Given the description of an element on the screen output the (x, y) to click on. 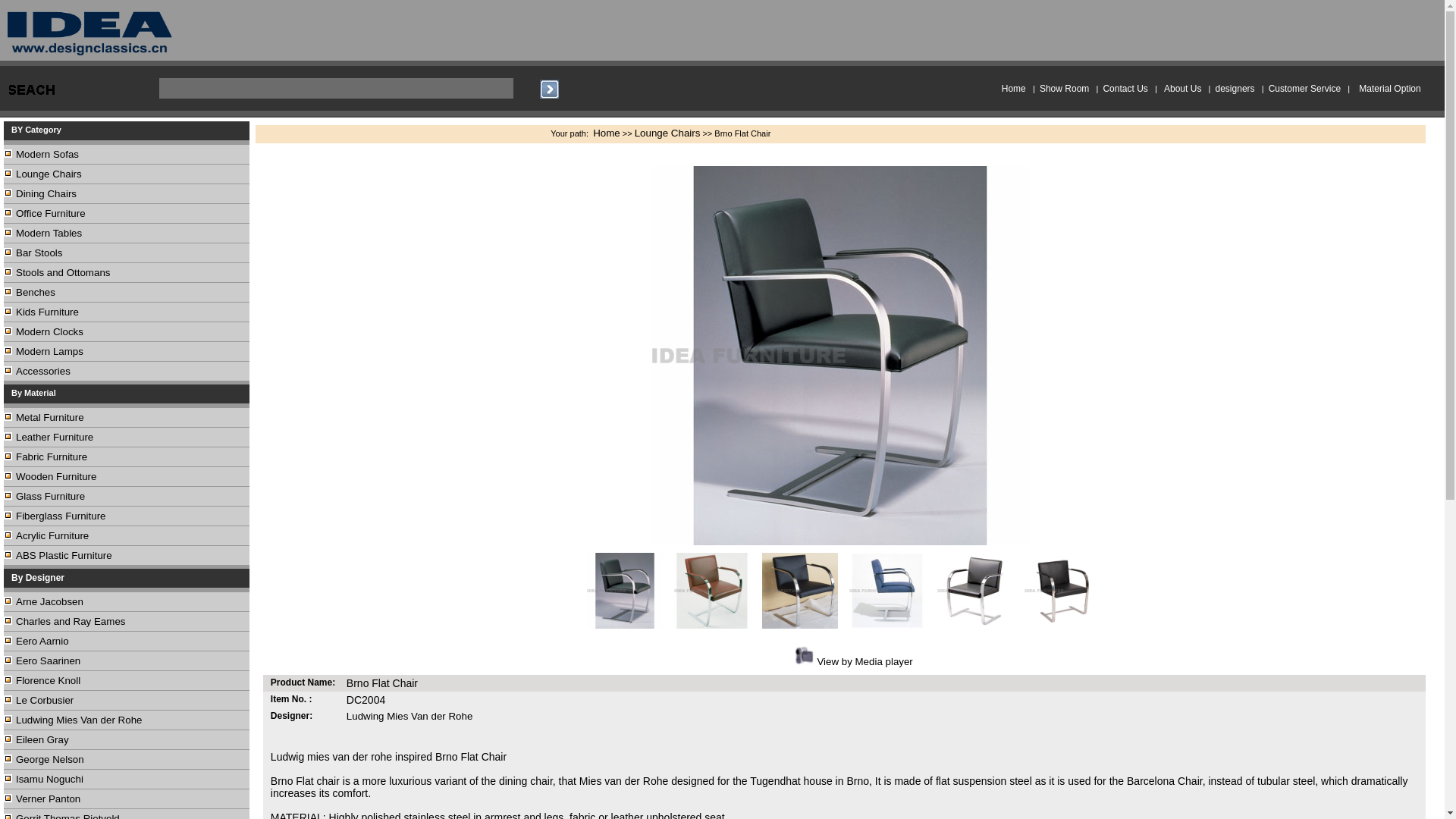
Contact Us (1124, 88)
ABS Plastic Furniture (64, 555)
Stools and Ottomans (63, 272)
Brno Flat Chair (711, 590)
Brno Flat Chair (1062, 590)
About Us (1182, 88)
Isamu Noguchi (49, 778)
Home (1013, 88)
Modern Tables (48, 233)
Arne Jacobsen (49, 601)
Brno Flat Chair (975, 590)
Brno Flat Chair (799, 590)
George Nelson (50, 758)
Benches (35, 292)
Eero Aarnio (42, 641)
